Given the description of an element on the screen output the (x, y) to click on. 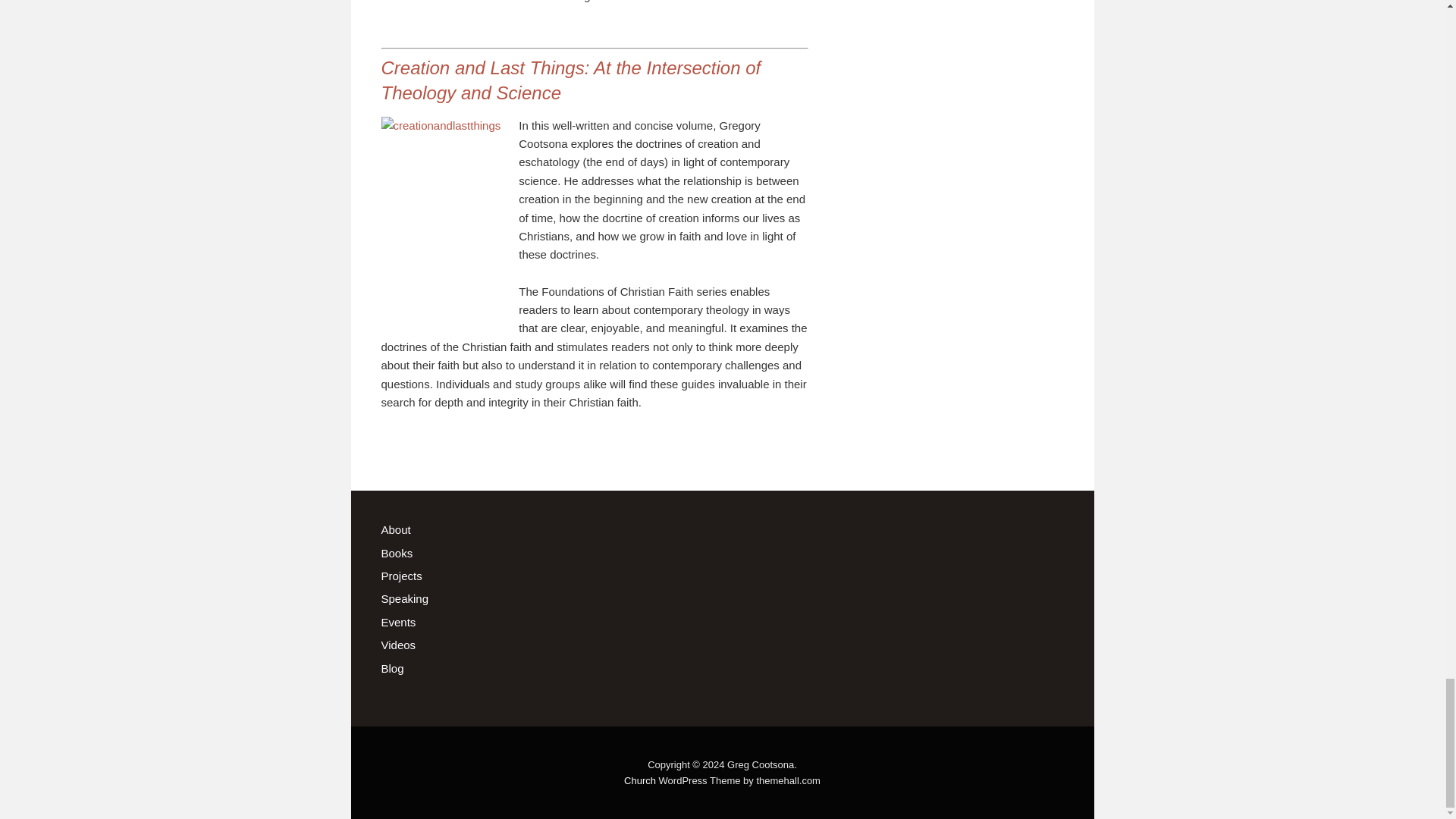
Events (397, 621)
Blog (391, 667)
Projects (401, 575)
Church (640, 780)
About (395, 529)
Books (396, 553)
Church WordPress Theme (640, 780)
Speaking (404, 598)
Videos (397, 644)
